Given the description of an element on the screen output the (x, y) to click on. 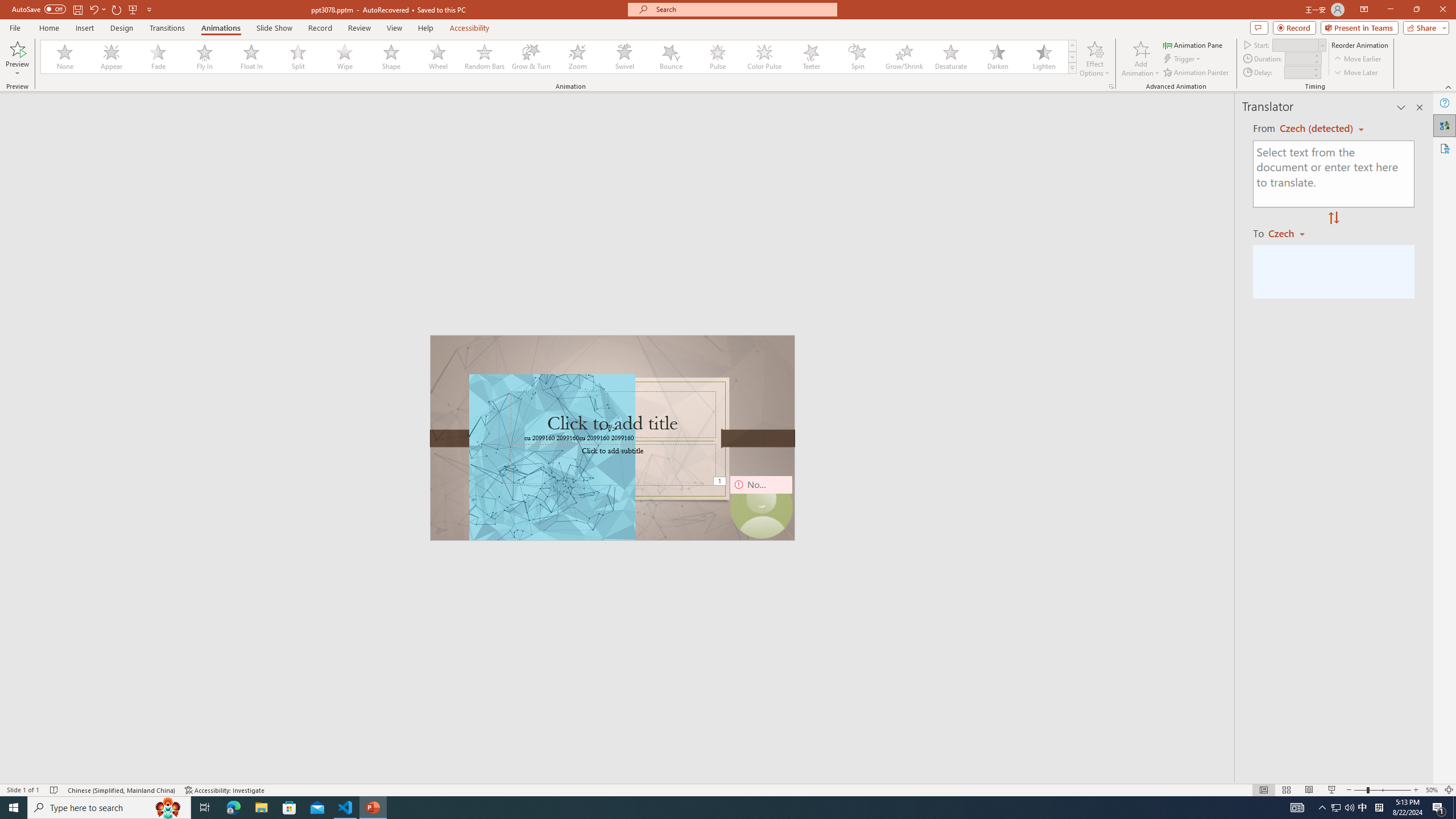
Float In (251, 56)
Accessibility (1444, 147)
Effect Options (1094, 58)
Grow & Turn (531, 56)
Less (1315, 75)
Teeter (810, 56)
More (1315, 69)
Row Down (1071, 56)
